Given the description of an element on the screen output the (x, y) to click on. 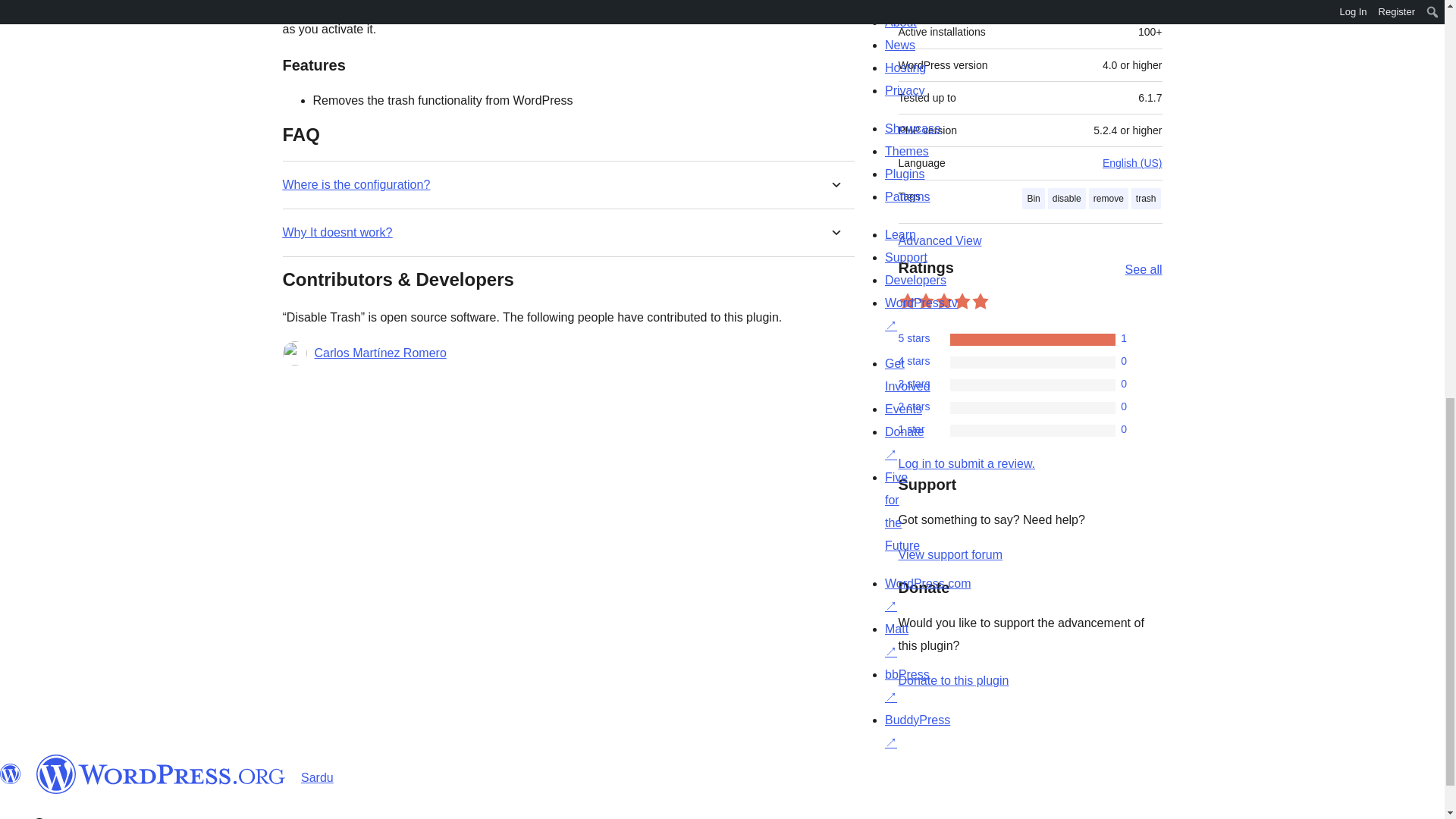
Log in to WordPress.org (966, 463)
Why It doesnt work? (336, 232)
WordPress.org (10, 773)
Where is the configuration? (355, 184)
WordPress.org (160, 773)
